Given the description of an element on the screen output the (x, y) to click on. 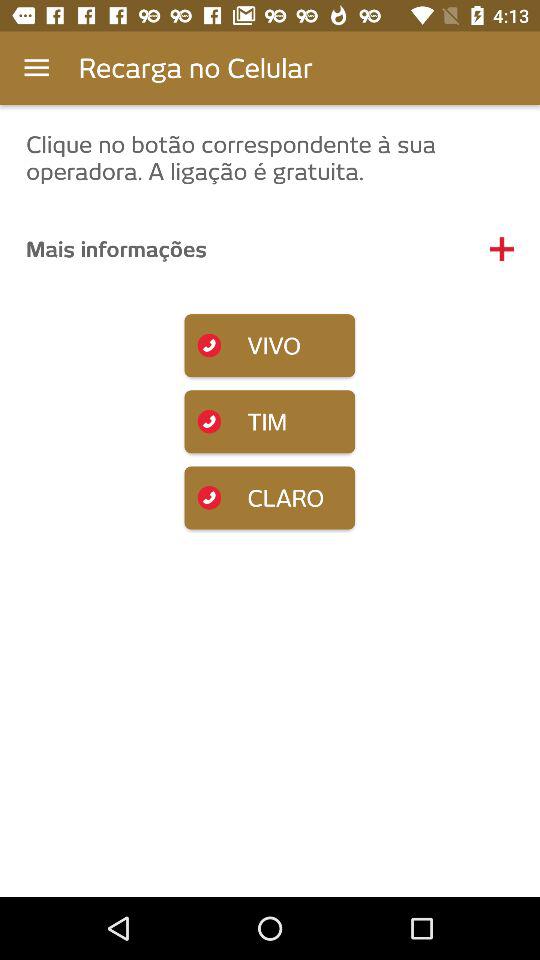
open the item below tim (269, 497)
